Given the description of an element on the screen output the (x, y) to click on. 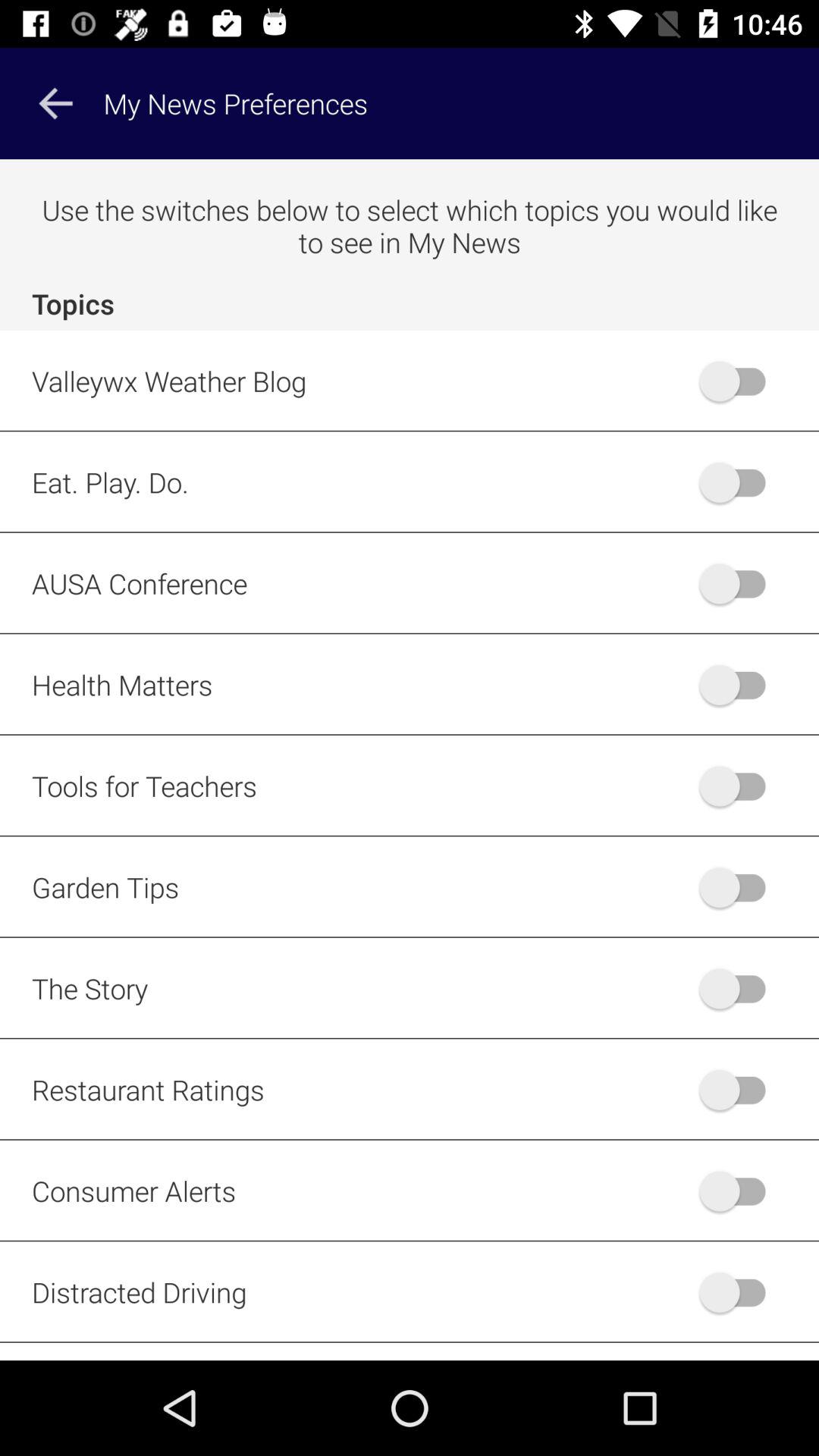
go to back (739, 1089)
